Given the description of an element on the screen output the (x, y) to click on. 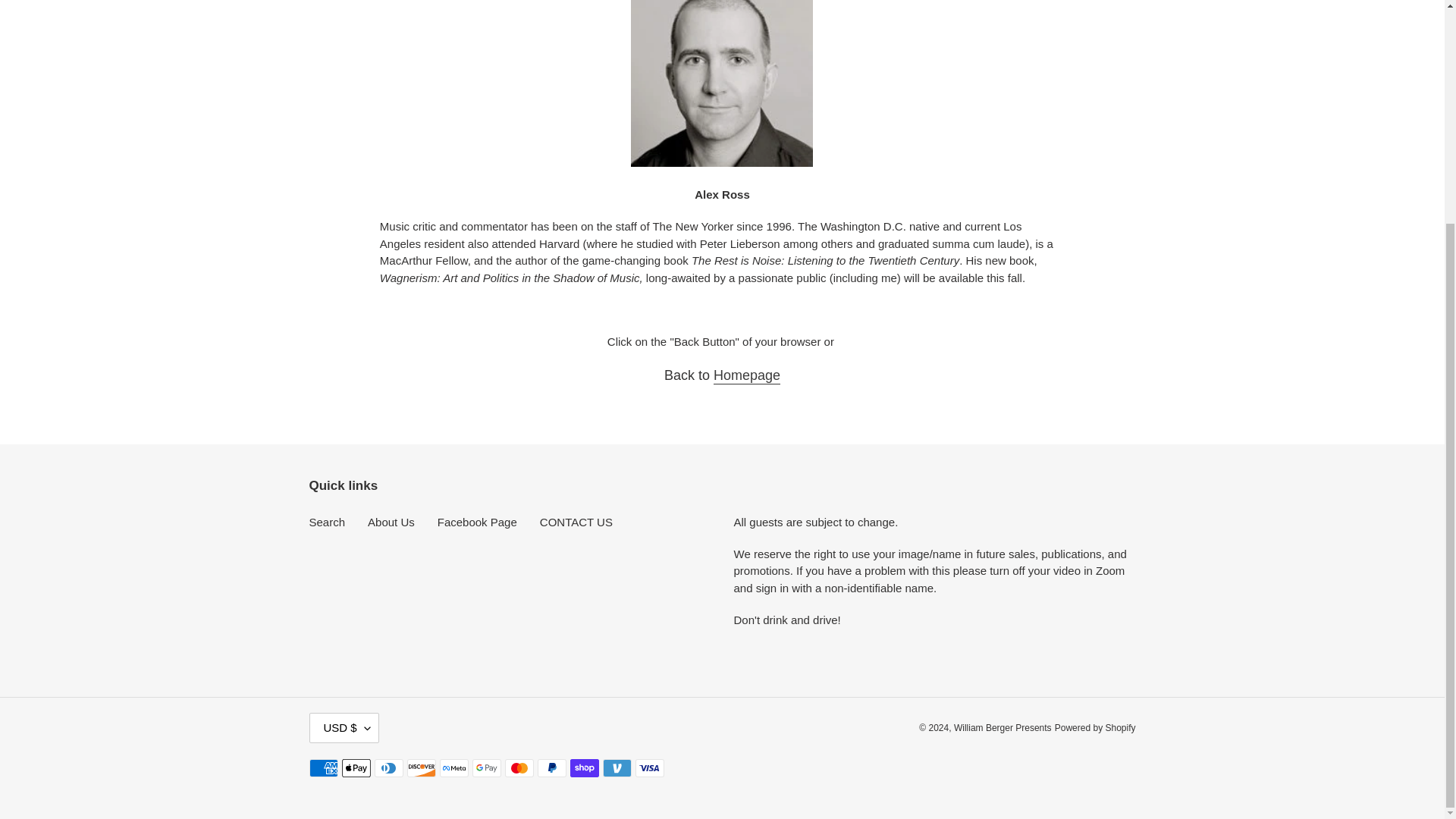
CONTACT US (576, 521)
Search (327, 521)
Homepage (746, 375)
About Us (391, 521)
Homepage (746, 375)
Facebook Page (477, 521)
